Given the description of an element on the screen output the (x, y) to click on. 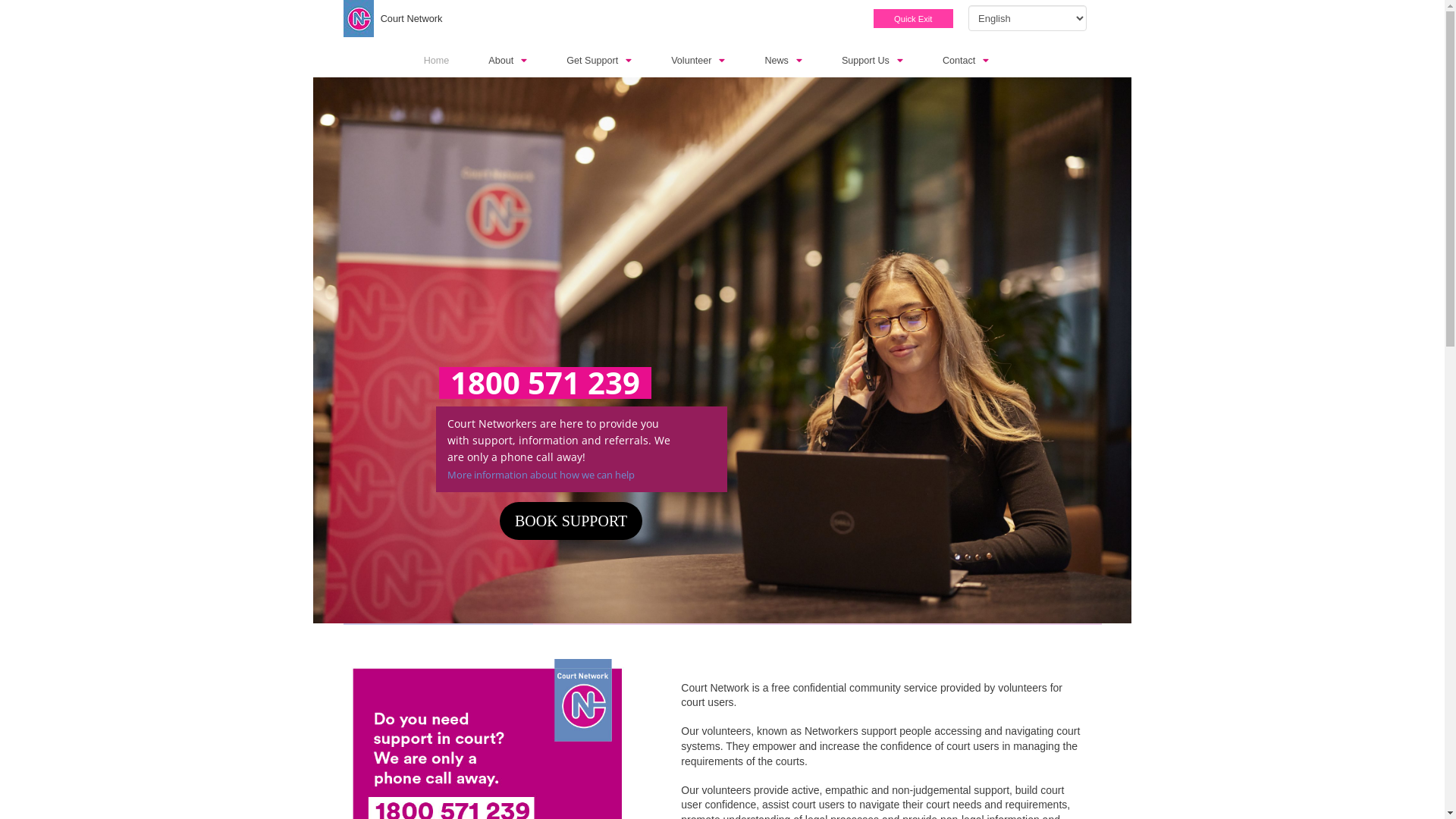
Looking to
Volunteer? Element type: text (948, 589)
BOOK SUPPORT Element type: text (570, 520)
Going to
Court? Element type: text (563, 589)
More information about how we can help Element type: text (540, 474)
Court Network Element type: text (411, 18)
Volunteer Element type: text (713, 60)
Contact Element type: text (981, 60)
Get Support Element type: text (614, 60)
News Element type: text (798, 60)
Quick Exit Element type: text (913, 18)
A Service
Provider? Element type: text (756, 589)
About Element type: text (523, 60)
Support Us Element type: text (887, 60)
Home Element type: text (452, 60)
